Given the description of an element on the screen output the (x, y) to click on. 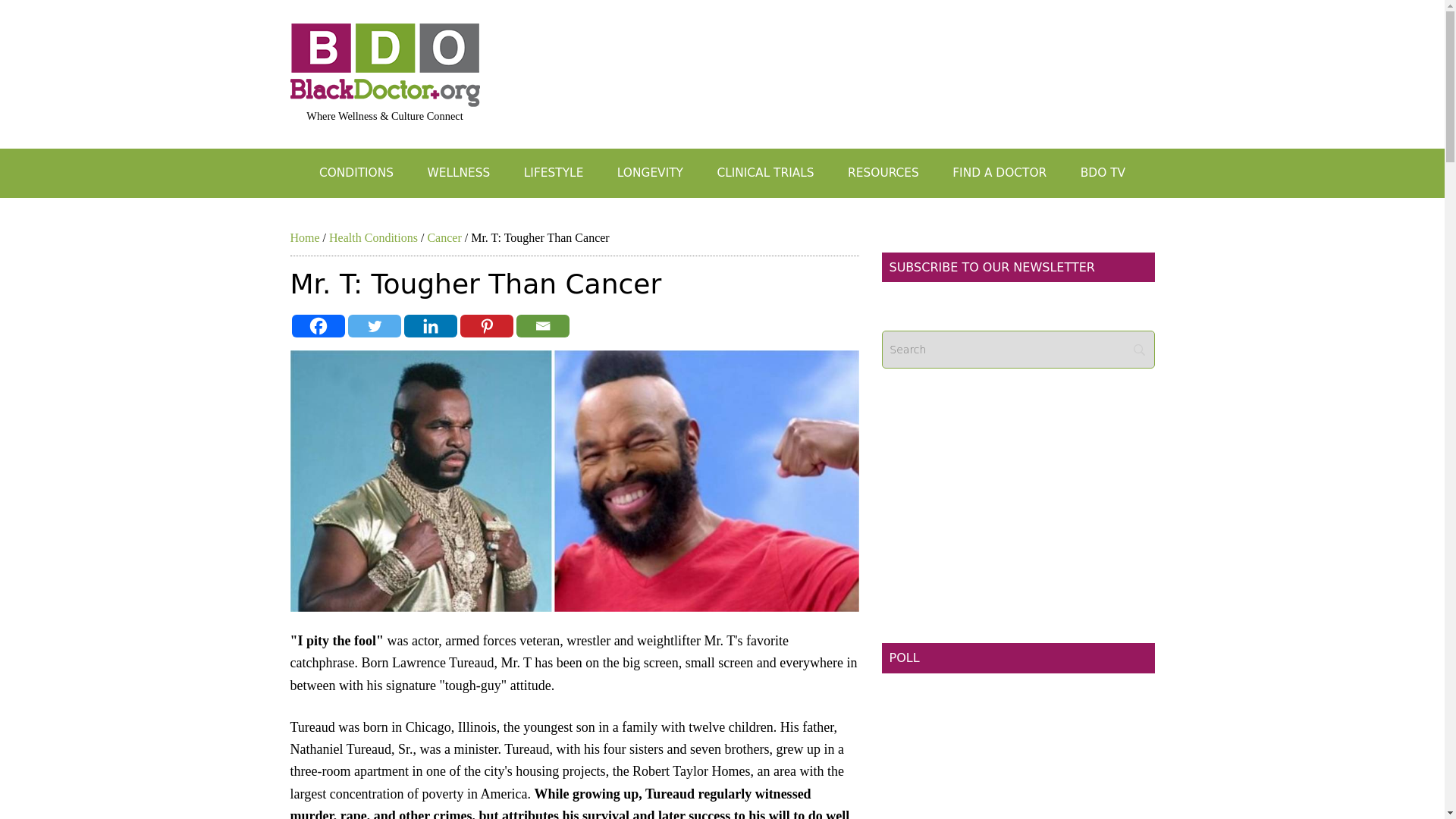
CONDITIONS (356, 173)
FIND A DOCTOR (999, 173)
Health Conditions (373, 237)
BDO TV (1102, 173)
LIFESTYLE (553, 173)
Twitter (373, 325)
Home (303, 237)
RESOURCES (883, 173)
Search (1017, 349)
WELLNESS (458, 173)
Facebook (317, 325)
Pinterest (486, 325)
CLINICAL TRIALS (764, 173)
Cancer (443, 237)
